Given the description of an element on the screen output the (x, y) to click on. 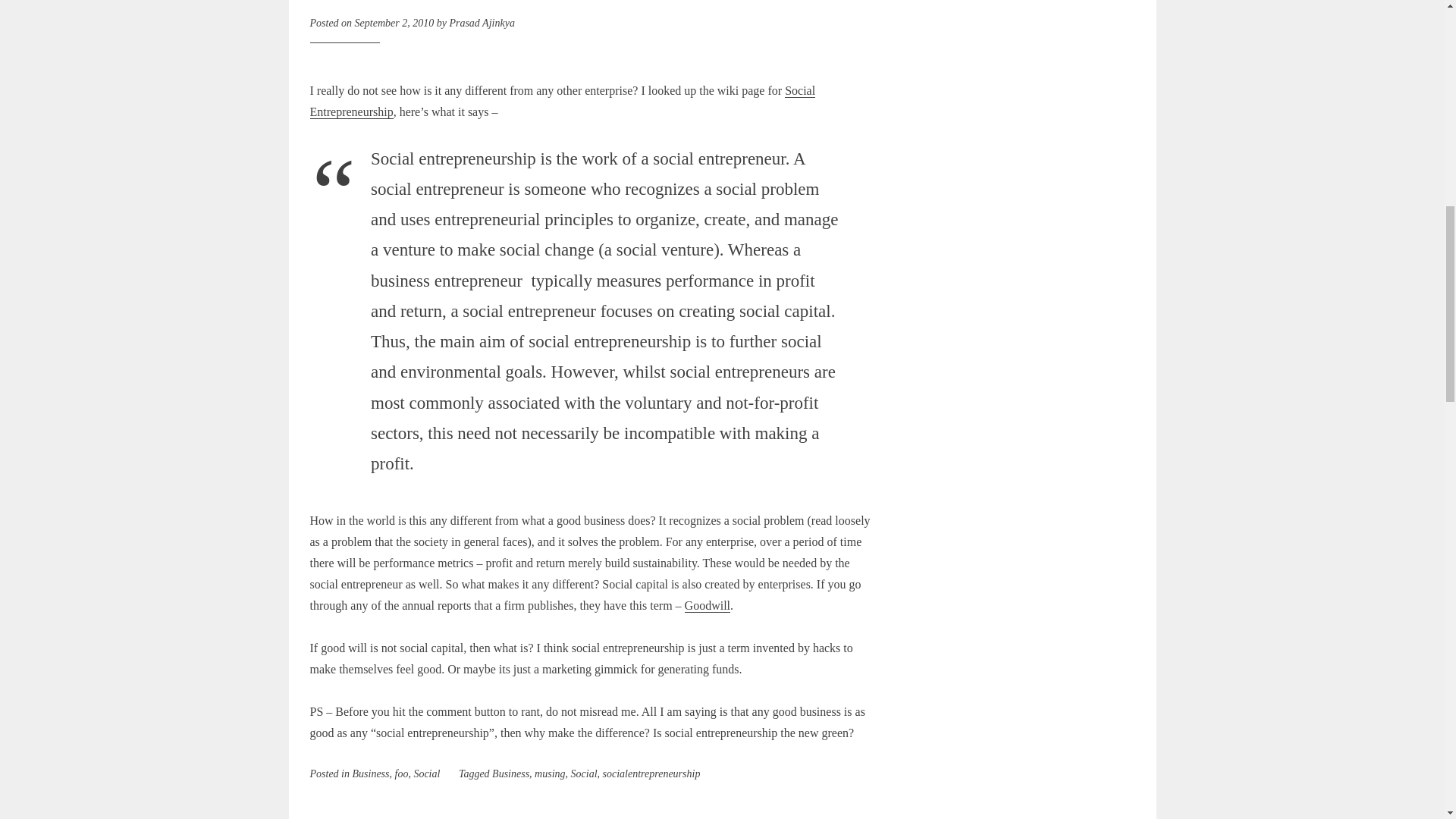
musing (549, 773)
Social (426, 773)
Business (370, 773)
September 2, 2010 (394, 22)
Prasad Ajinkya (480, 22)
Social (583, 773)
foo (400, 773)
socialentrepreneurship (651, 773)
Social Entrepreneurship (561, 100)
Business (510, 773)
